Given the description of an element on the screen output the (x, y) to click on. 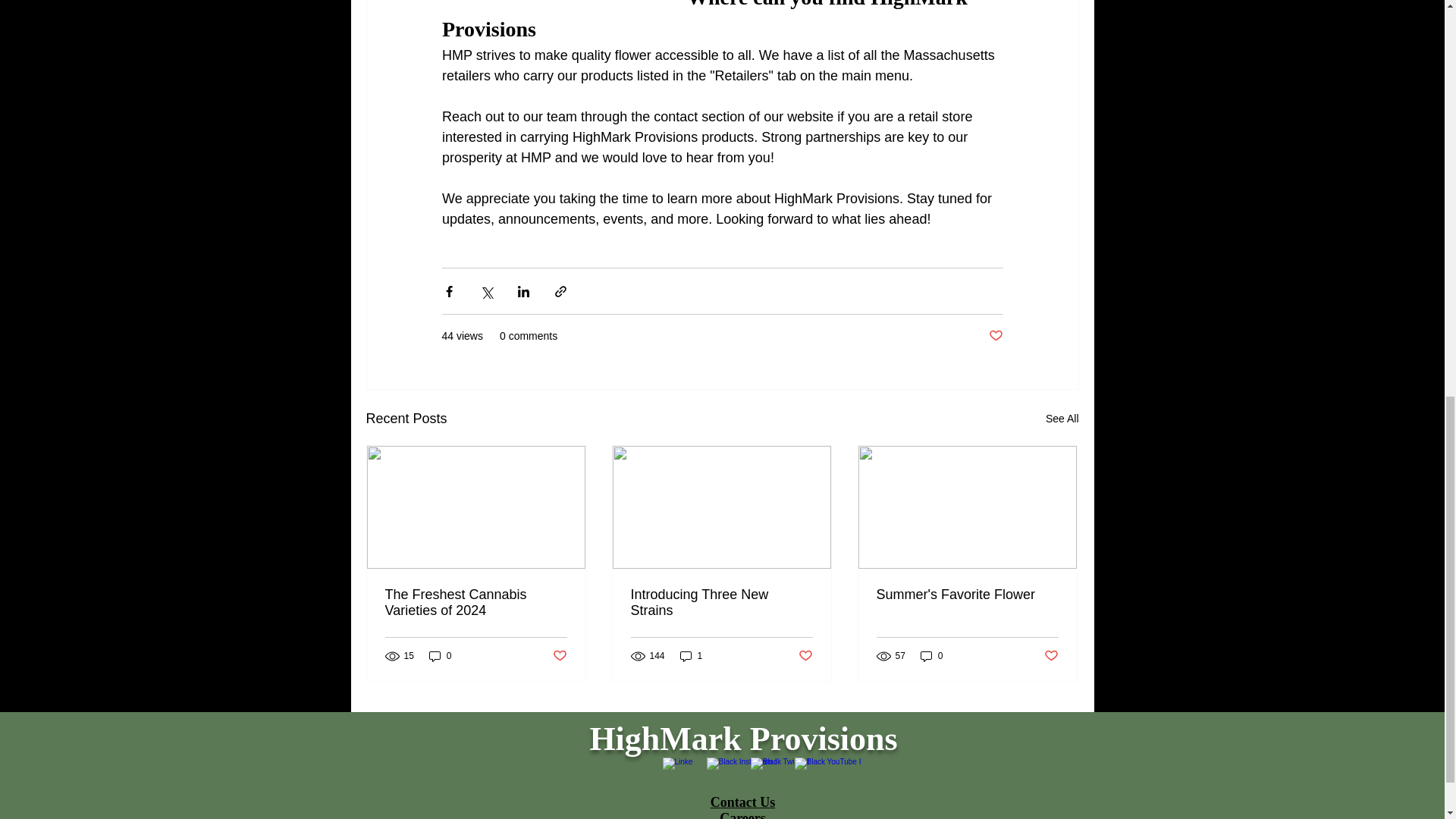
Introducing Three New Strains (721, 603)
0 (931, 656)
1 (691, 656)
0 (440, 656)
See All (1061, 418)
Post not marked as liked (995, 335)
Summer's Favorite Flower (967, 594)
Post not marked as liked (1050, 655)
Contact Us (743, 801)
The Freshest Cannabis Varieties of 2024 (476, 603)
Careers (742, 814)
Post not marked as liked (558, 655)
Post not marked as liked (804, 655)
